Given the description of an element on the screen output the (x, y) to click on. 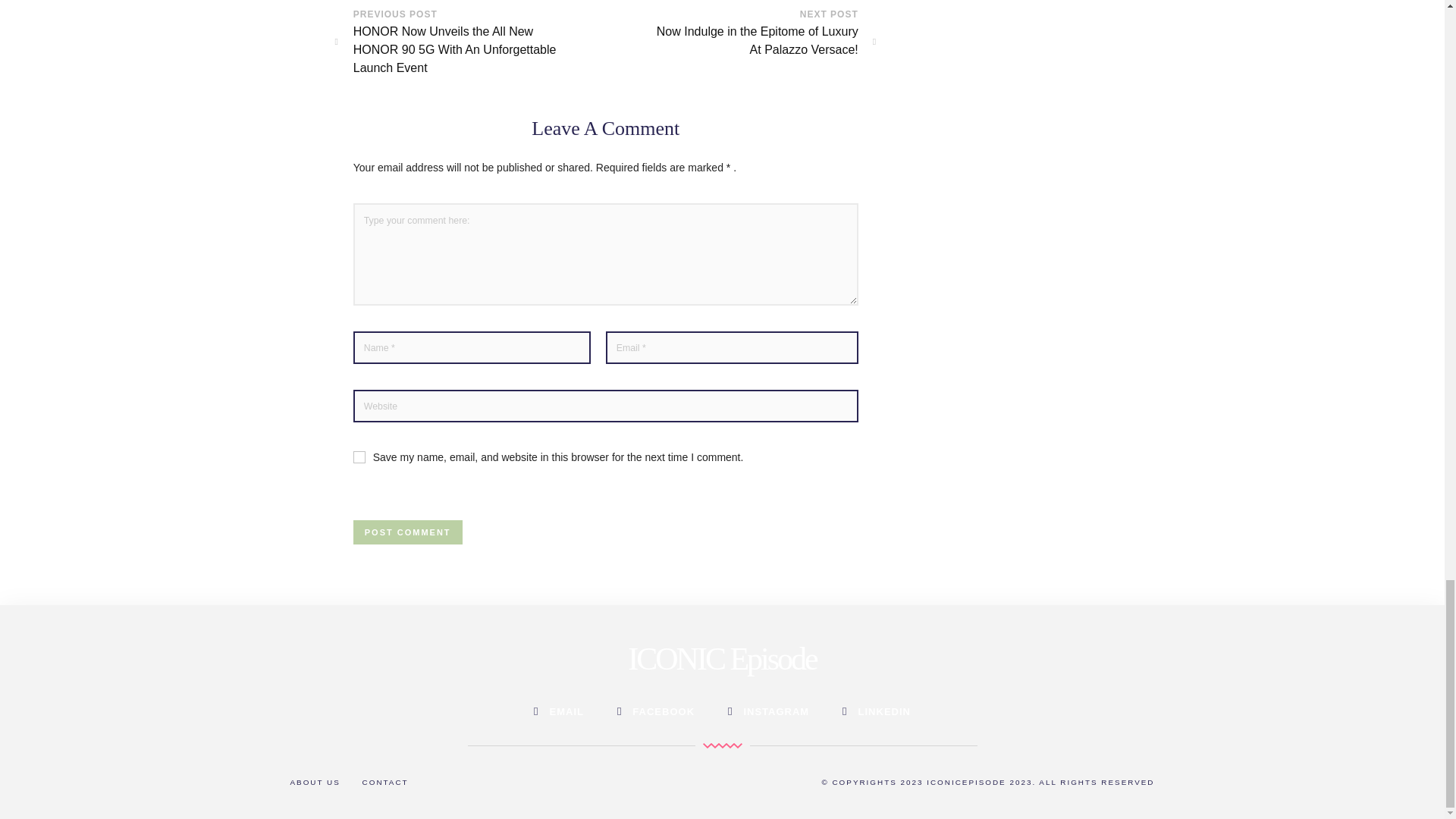
yes (359, 457)
ICONIC Episode (721, 658)
Post Comment (408, 532)
Post Comment (408, 532)
